Given the description of an element on the screen output the (x, y) to click on. 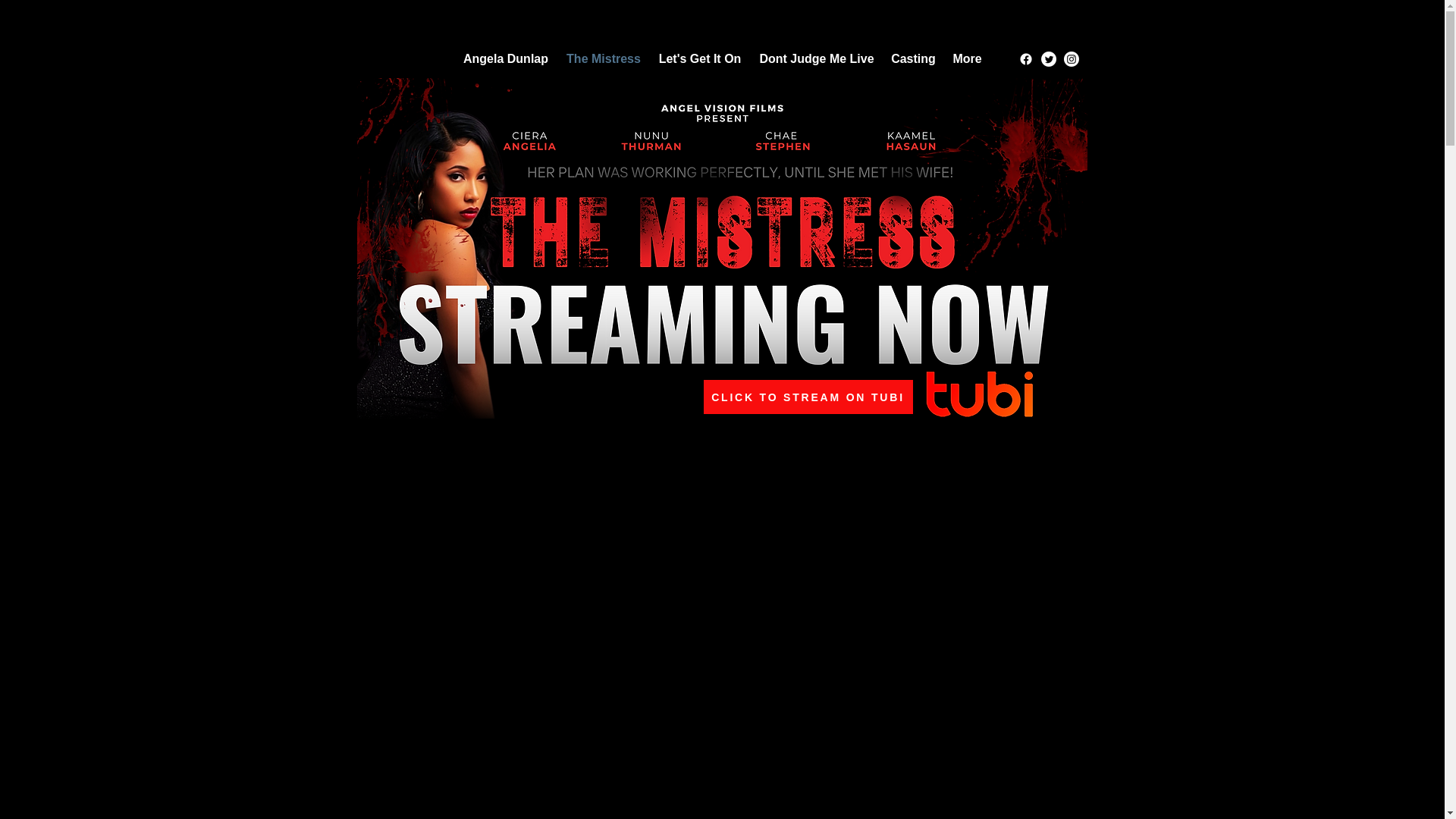
Angela Dunlap (504, 58)
Dont Judge Me Live (817, 58)
Casting (912, 58)
The Mistress (603, 58)
Let's Get It On (699, 58)
CLICK TO STREAM ON TUBI (807, 397)
